Given the description of an element on the screen output the (x, y) to click on. 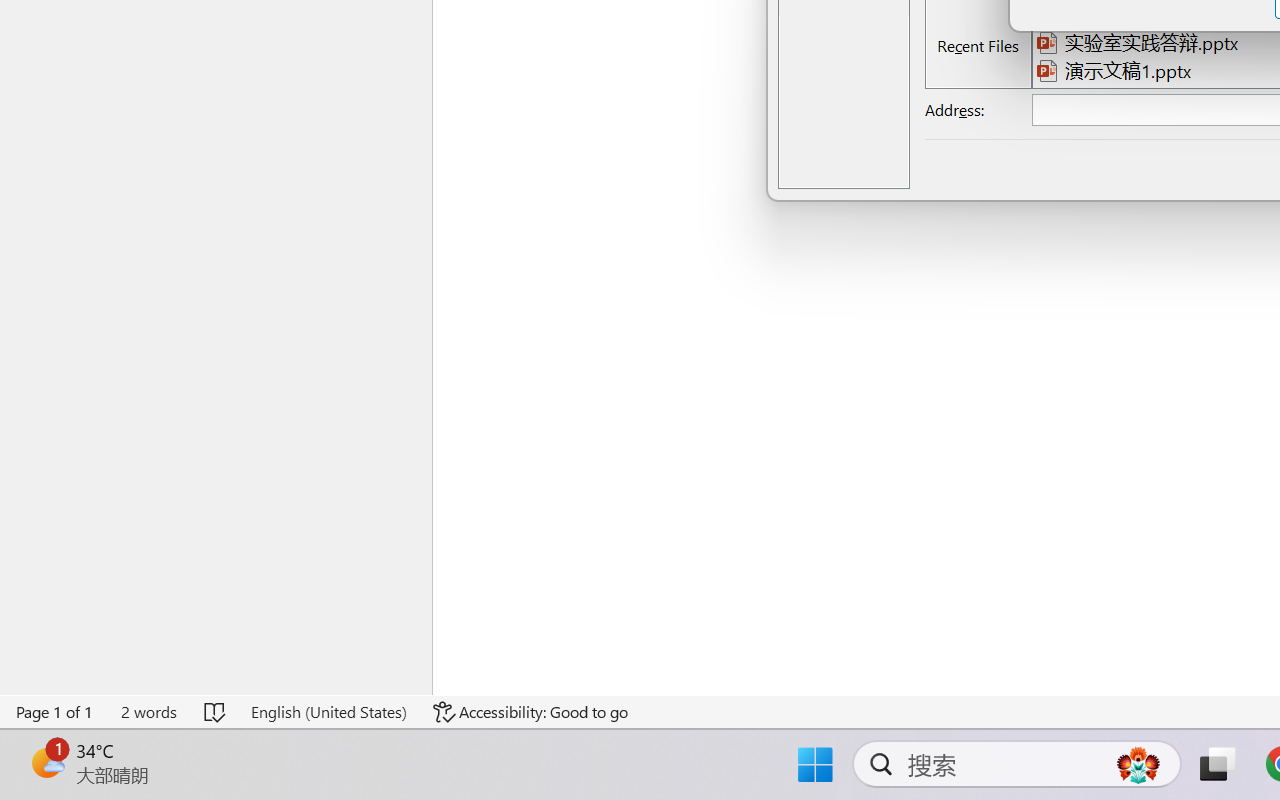
Spelling and Grammar Check No Errors (216, 712)
Language English (United States) (328, 712)
Page Number Page 1 of 1 (55, 712)
Accessibility Checker Accessibility: Good to go (531, 712)
AutomationID: BadgeAnchorLargeTicker (46, 762)
AutomationID: DynamicSearchBoxGleamImage (1138, 764)
